Given the description of an element on the screen output the (x, y) to click on. 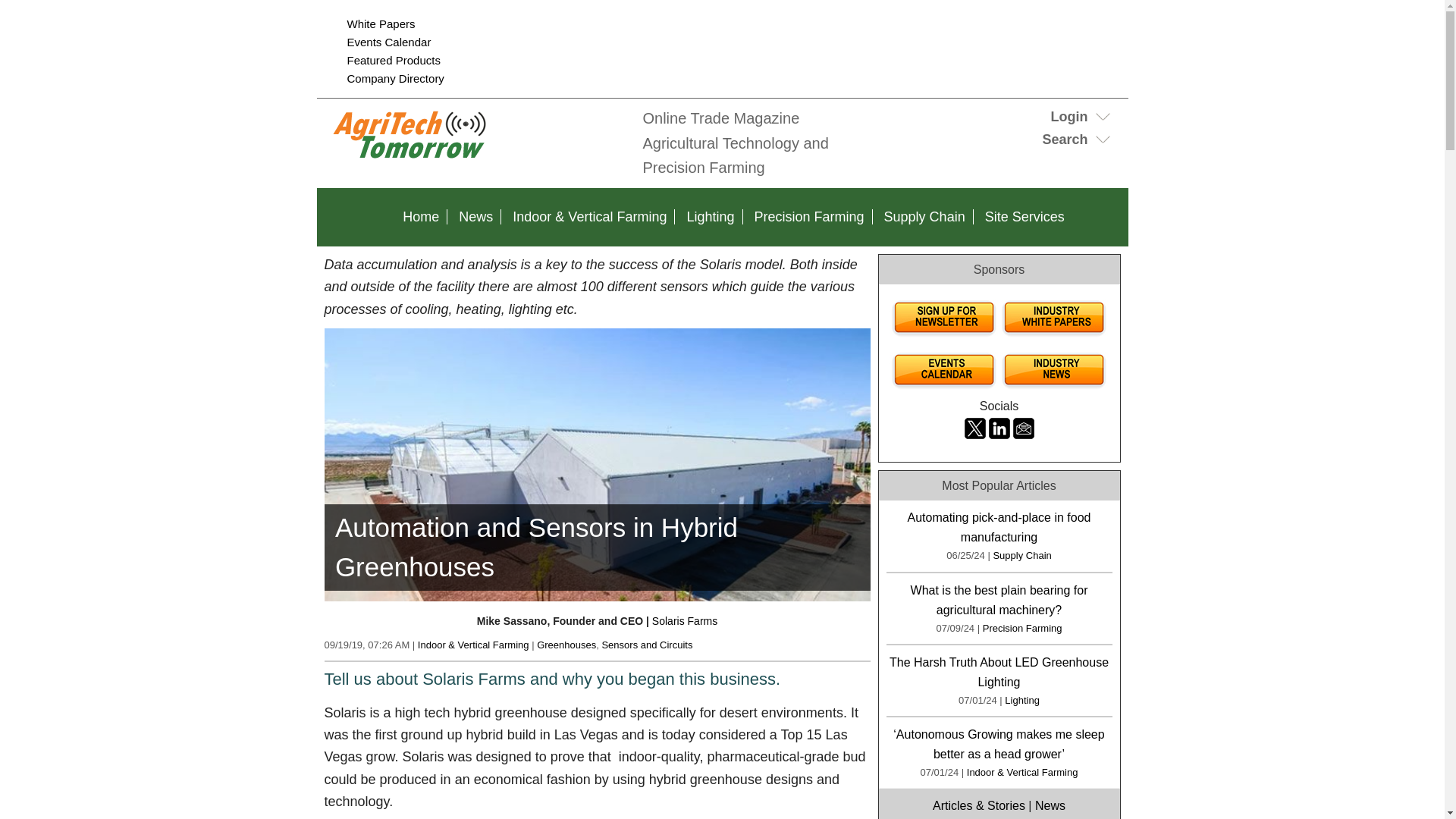
Sensors and Circuits (647, 644)
Company Directory (395, 78)
White Papers (380, 23)
Featured Products (394, 60)
Lighting (709, 217)
News (475, 217)
Greenhouses (566, 644)
AgriTechTomorrow (475, 159)
Home (420, 217)
Events Calendar (388, 42)
Site Services (1023, 217)
Supply Chain (924, 217)
Solaris Farms (684, 621)
Precision Farming (809, 217)
